Given the description of an element on the screen output the (x, y) to click on. 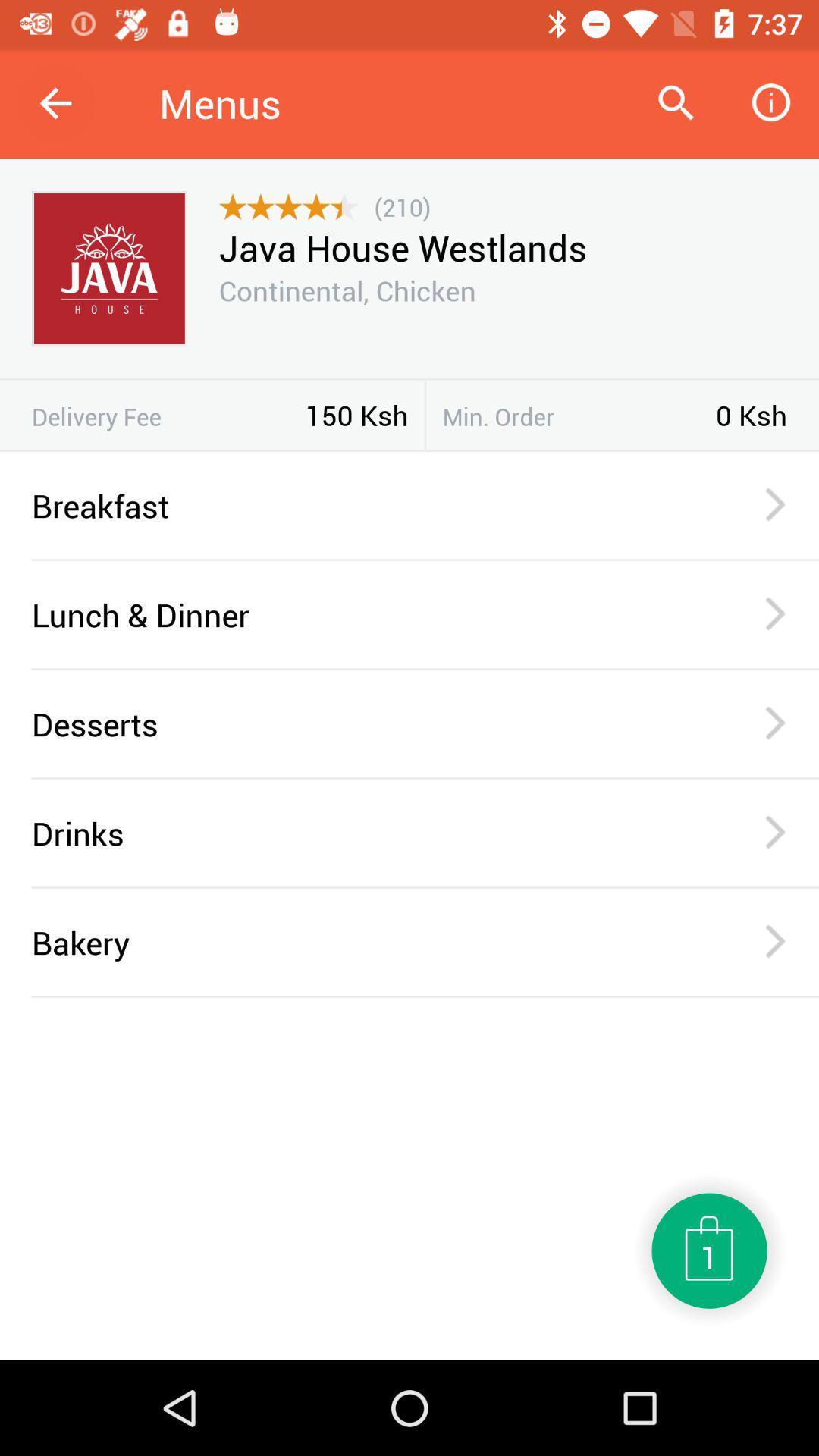
press icon below 150 ksh item (409, 450)
